Given the description of an element on the screen output the (x, y) to click on. 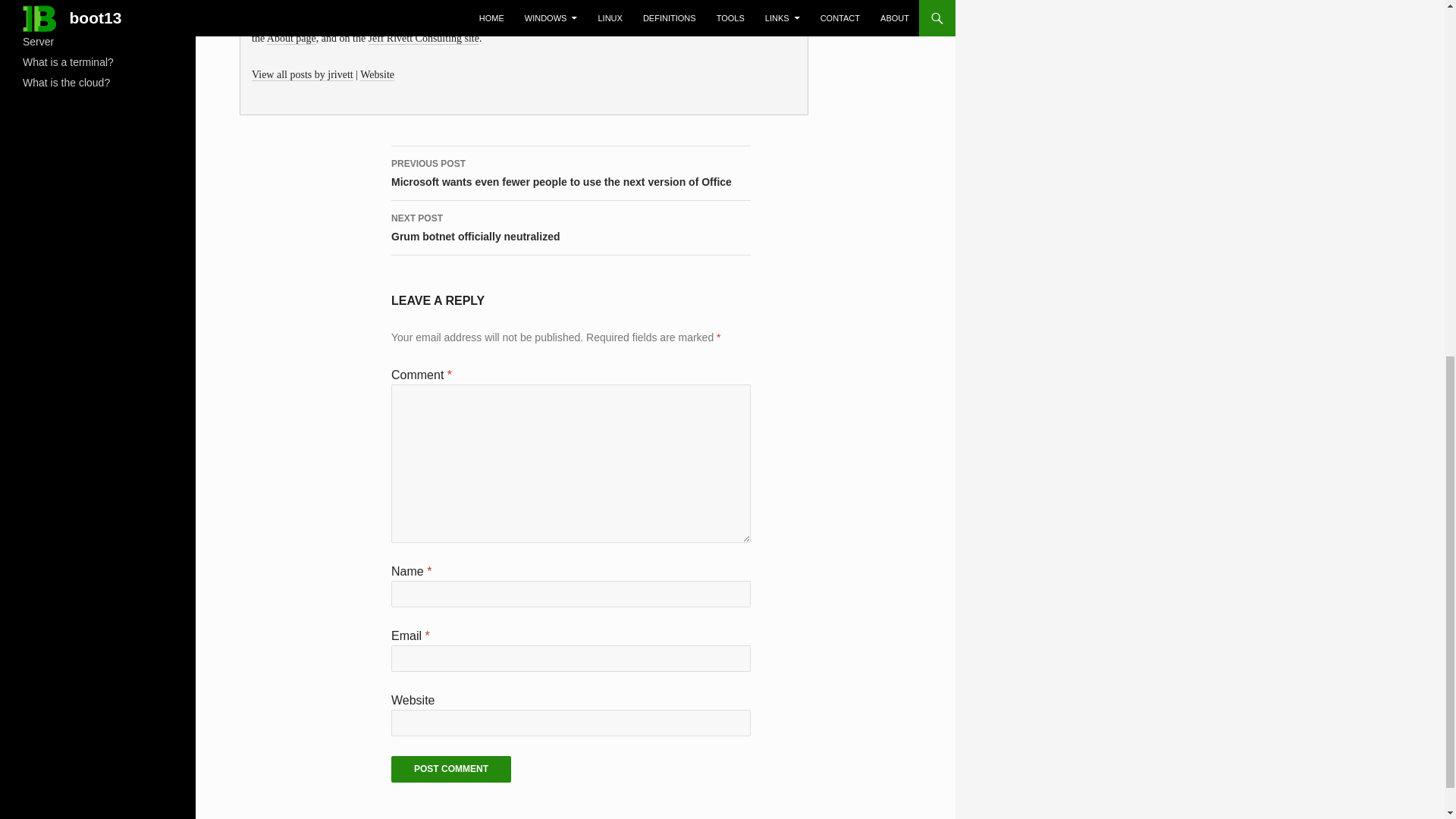
About page (290, 38)
UWO (343, 21)
Jeff Rivett Consulting site (423, 38)
Website (376, 74)
Post Comment (451, 768)
View all posts by jrivett (302, 74)
